Given the description of an element on the screen output the (x, y) to click on. 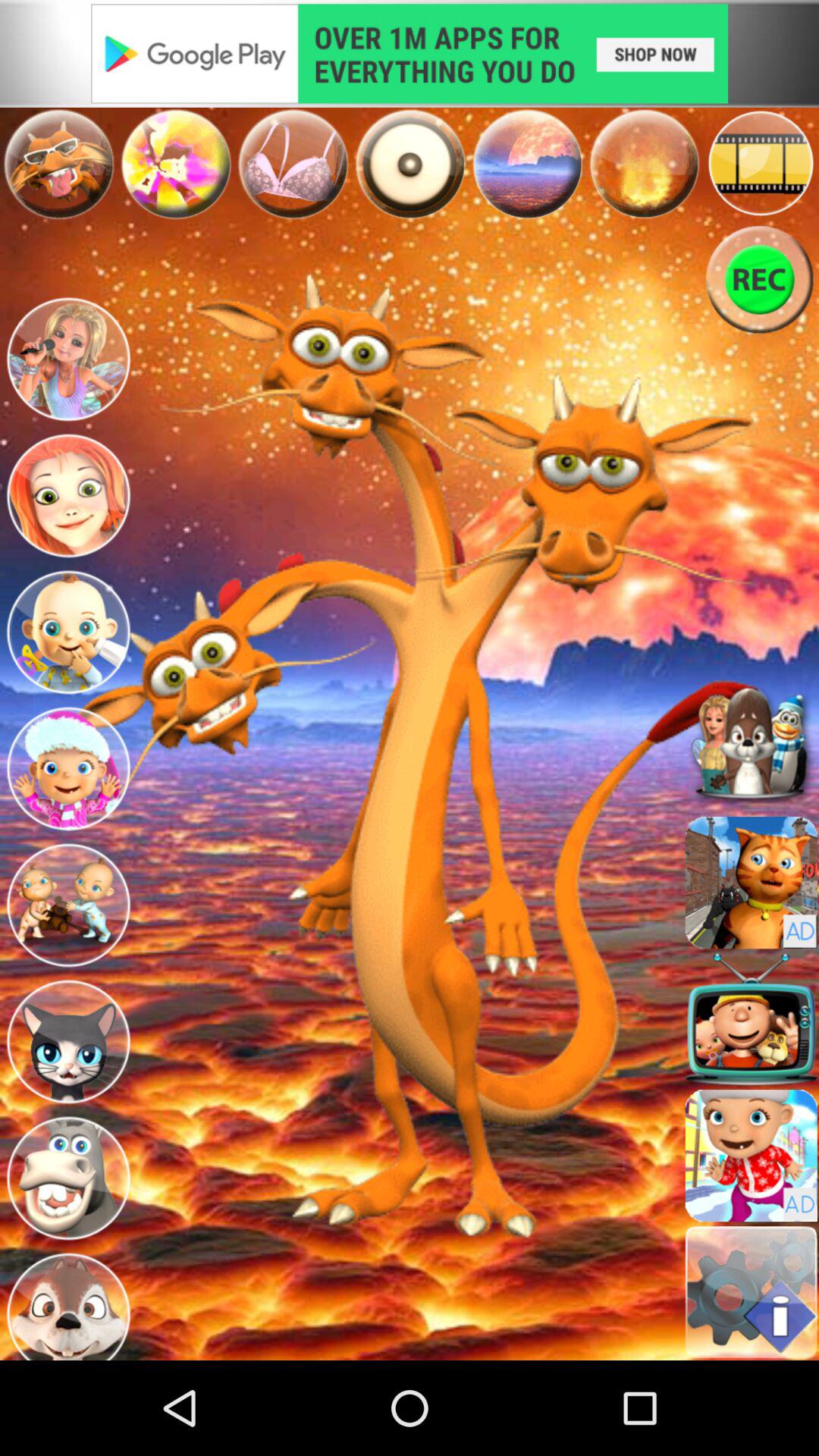
select element (643, 163)
